Given the description of an element on the screen output the (x, y) to click on. 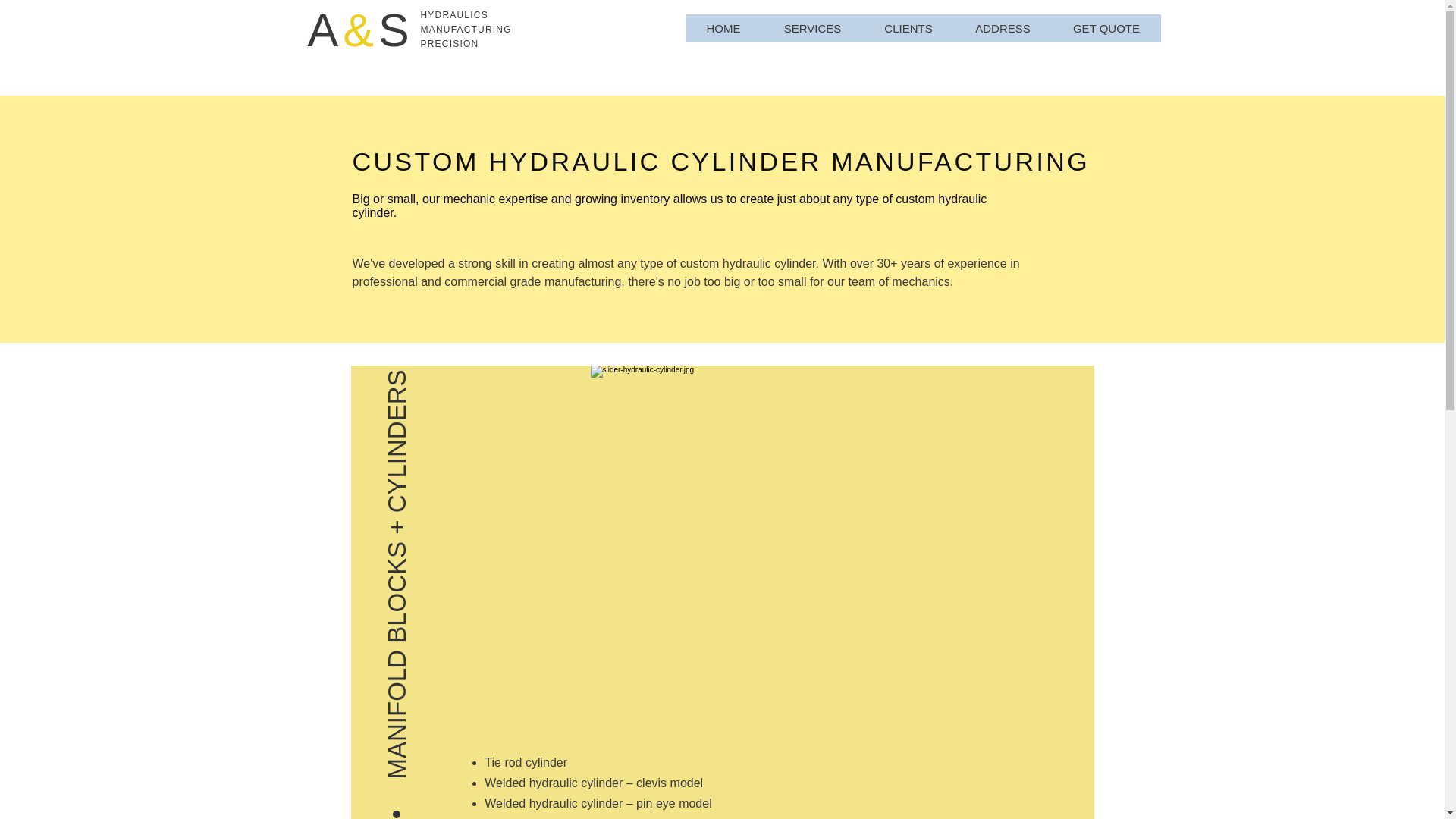
CLIENTS Element type: text (907, 28)
PRECISION Element type: text (449, 43)
ADDRESS Element type: text (1002, 28)
HOME Element type: text (723, 28)
GET QUOTE Element type: text (1105, 28)
& Element type: text (360, 30)
SERVICES Element type: text (811, 28)
A Element type: text (325, 30)
S Element type: text (396, 30)
MANUFACTURING Element type: text (465, 29)
HYDRAULICS Element type: text (453, 14)
